Given the description of an element on the screen output the (x, y) to click on. 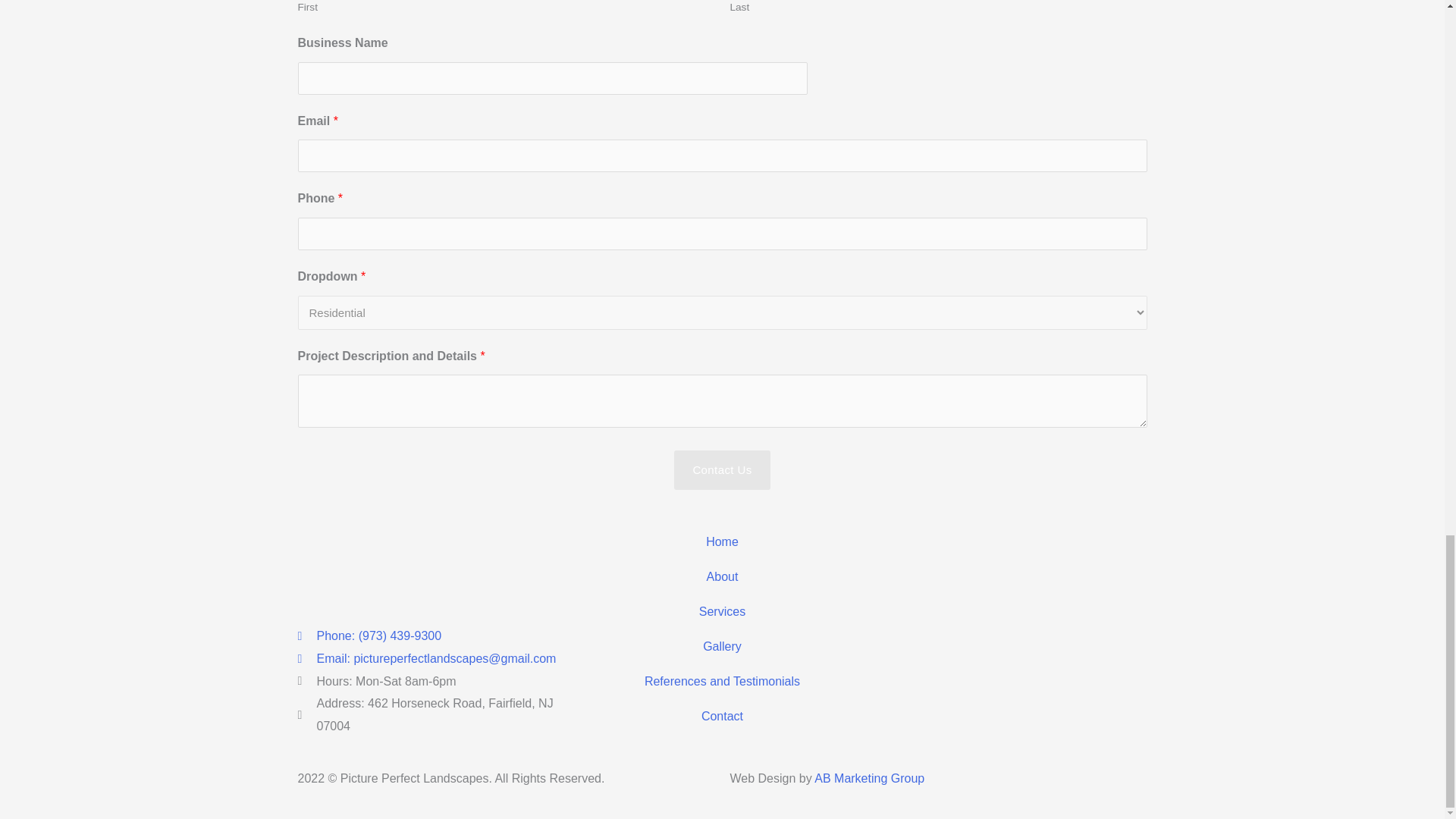
Contact Us (722, 469)
Services (722, 611)
Contact (722, 716)
About (722, 576)
References and Testimonials (722, 681)
Gallery (722, 646)
Home (722, 541)
462 Horseneck Rd, Fairfield, NJ 07004 (1010, 638)
